Given the description of an element on the screen output the (x, y) to click on. 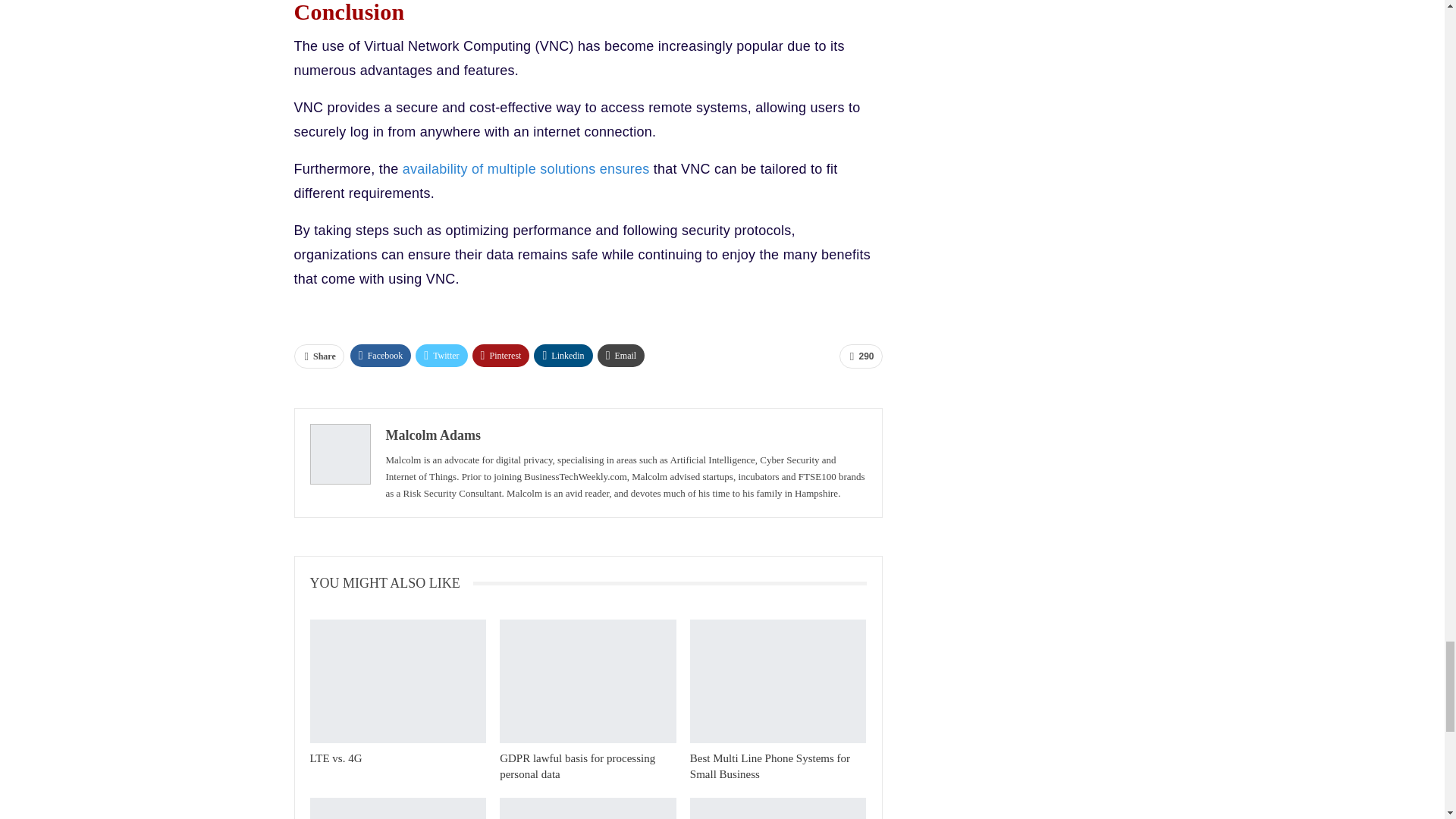
availability of multiple solutions ensures (526, 168)
Twitter (440, 354)
Facebook (381, 354)
LTE vs. 4G (397, 680)
Mastering Evolving SEO Trends for Online Success (588, 808)
Pinterest (500, 354)
LTE vs. 4G (334, 758)
Best Multi Line Phone Systems for Small Business (778, 680)
